Given the description of an element on the screen output the (x, y) to click on. 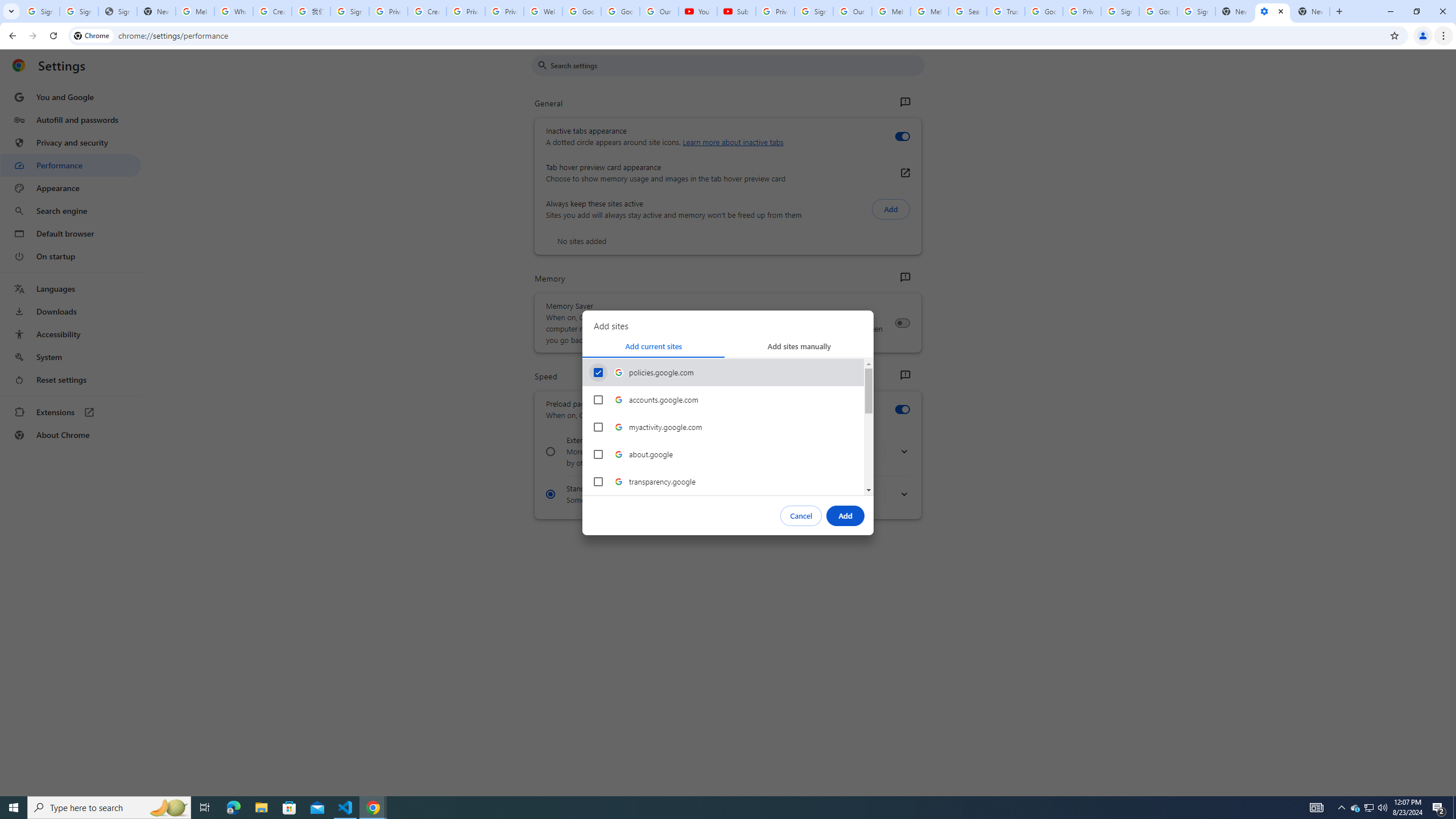
Trusted Information and Content - Google Safety Center (1005, 11)
policies.google.com (598, 371)
